Given the description of an element on the screen output the (x, y) to click on. 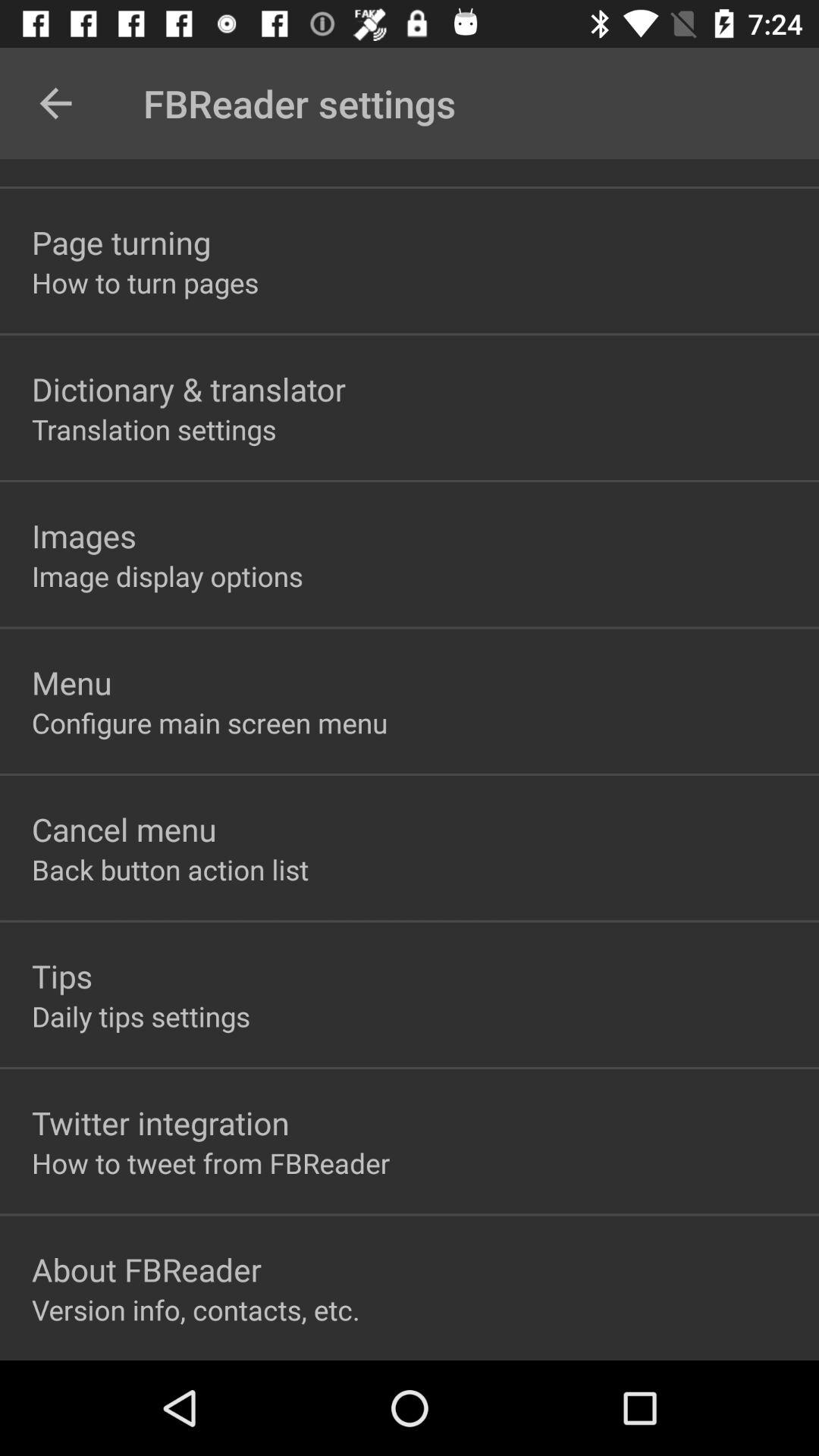
scroll until the configure main screen item (209, 722)
